Given the description of an element on the screen output the (x, y) to click on. 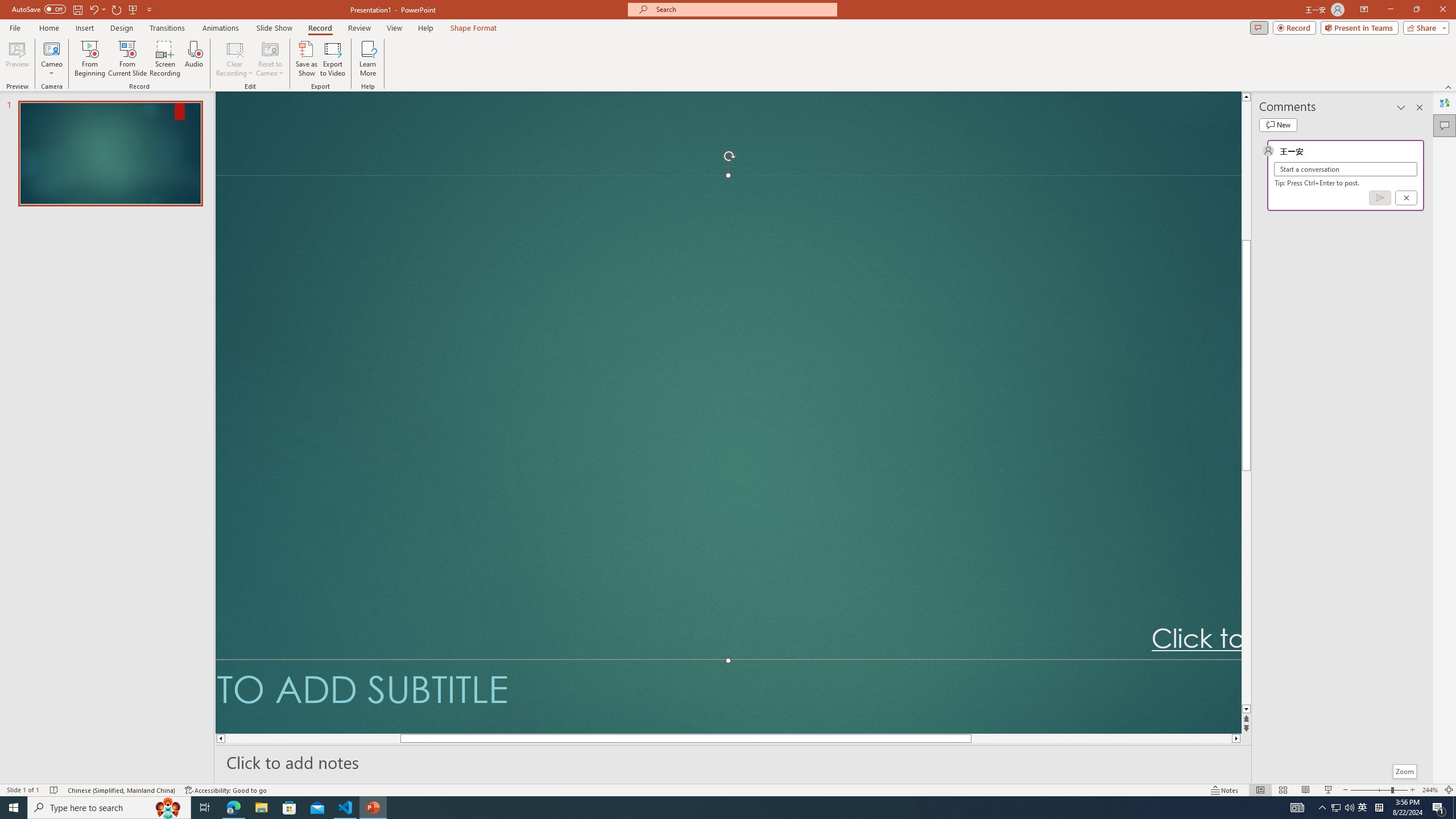
Start a conversation (1344, 168)
New comment (1278, 124)
Translator (1444, 102)
Screen Recording (165, 58)
Class: MsoCommandBar (728, 789)
Reset to Cameo (269, 58)
